Given the description of an element on the screen output the (x, y) to click on. 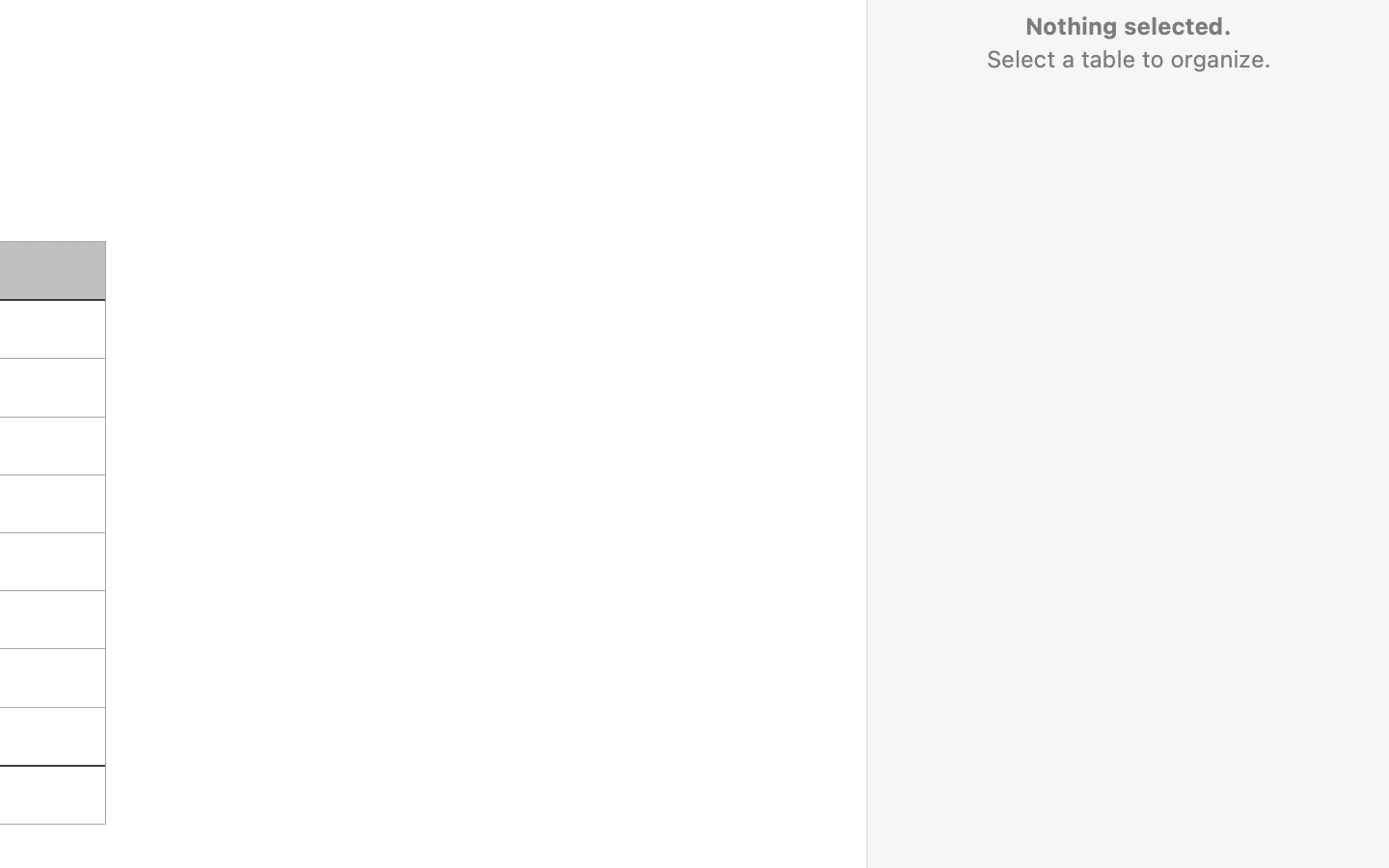
Nothing selected. Element type: AXStaticText (1127, 25)
Select a table to organize. Element type: AXStaticText (1127, 58)
